Given the description of an element on the screen output the (x, y) to click on. 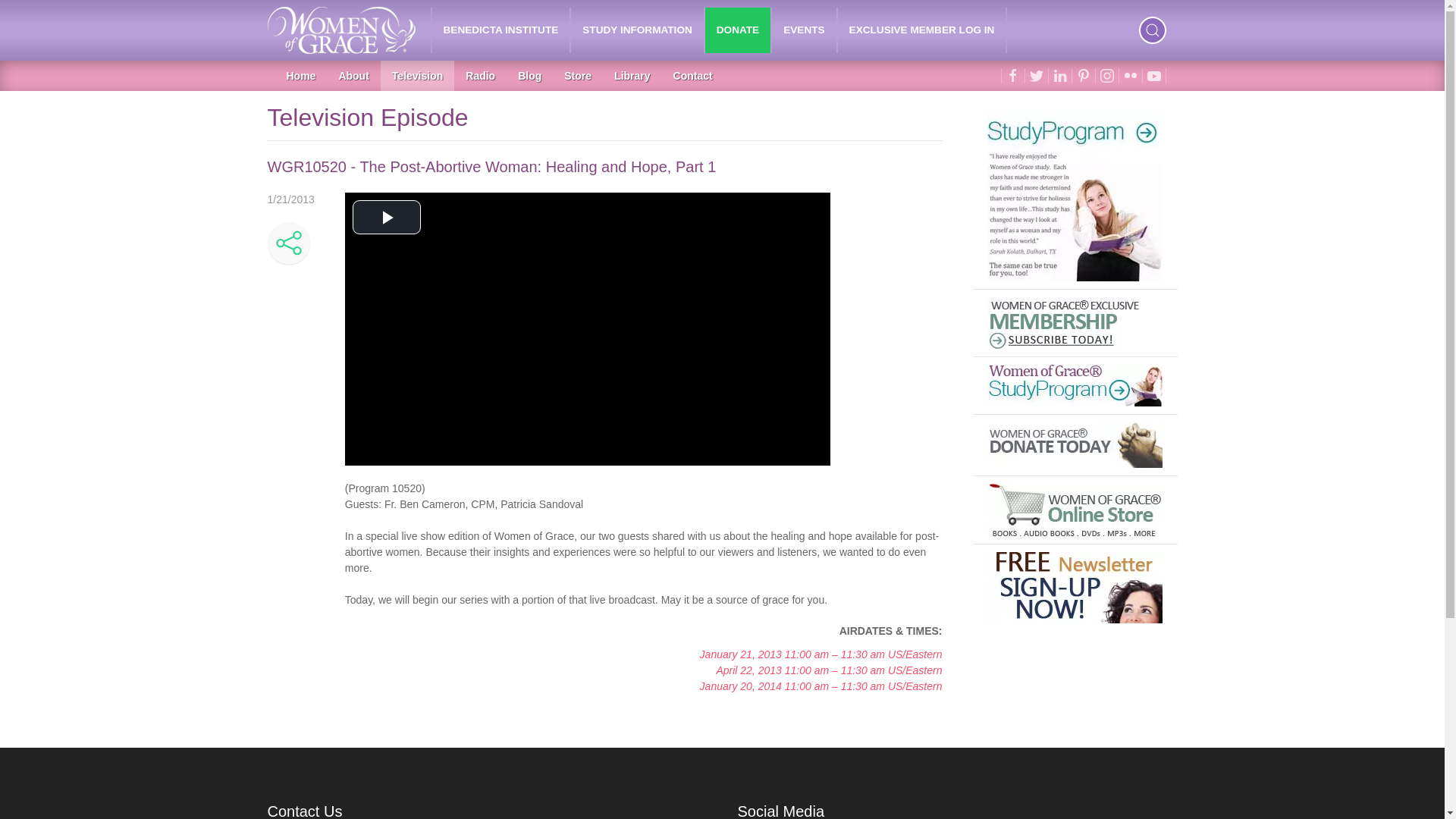
Home (300, 75)
EVENTS (803, 30)
DONATE (737, 30)
Television (417, 75)
EXCLUSIVE MEMBER LOG IN (922, 30)
Library (631, 75)
BENEDICTA INSTITUTE (501, 30)
Radio (480, 75)
Contact (692, 75)
About (353, 75)
